Given the description of an element on the screen output the (x, y) to click on. 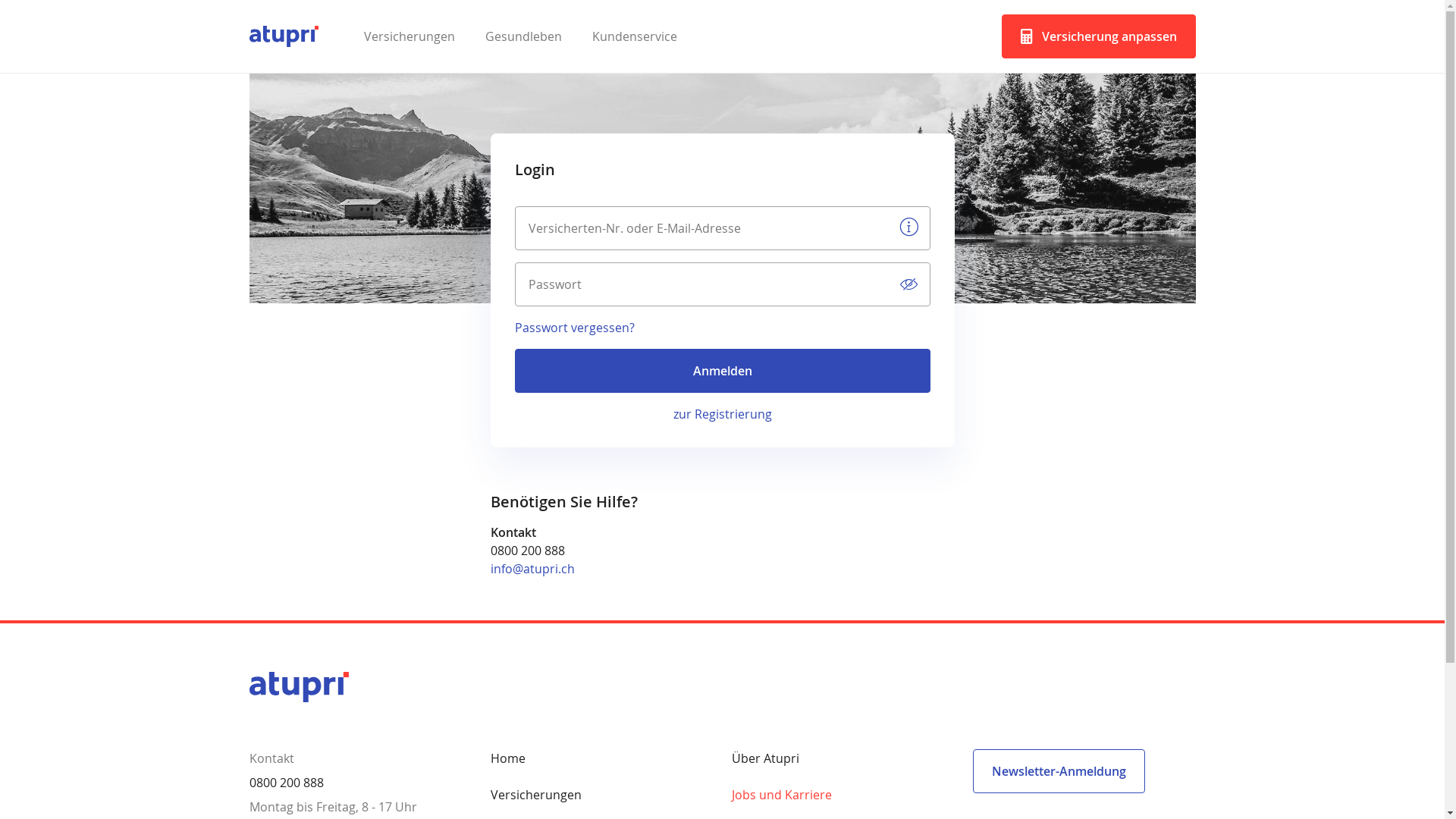
0800 200 888 Element type: text (526, 550)
Home Element type: text (506, 758)
0800 200 888 Element type: text (285, 782)
Kundenservice Element type: text (634, 36)
Gesundleben Element type: text (523, 36)
Newsletter-Anmeldung Element type: text (1058, 771)
calculator
Versicherung anpassen Element type: text (1098, 36)
info@atupri.ch Element type: text (531, 568)
zur Registrierung Element type: text (722, 413)
Jobs und Karriere Element type: text (781, 794)
Versicherungen Element type: text (534, 794)
Anmelden Element type: text (721, 370)
Passwort vergessen? Element type: text (573, 327)
Versicherungen Element type: text (409, 36)
